Given the description of an element on the screen output the (x, y) to click on. 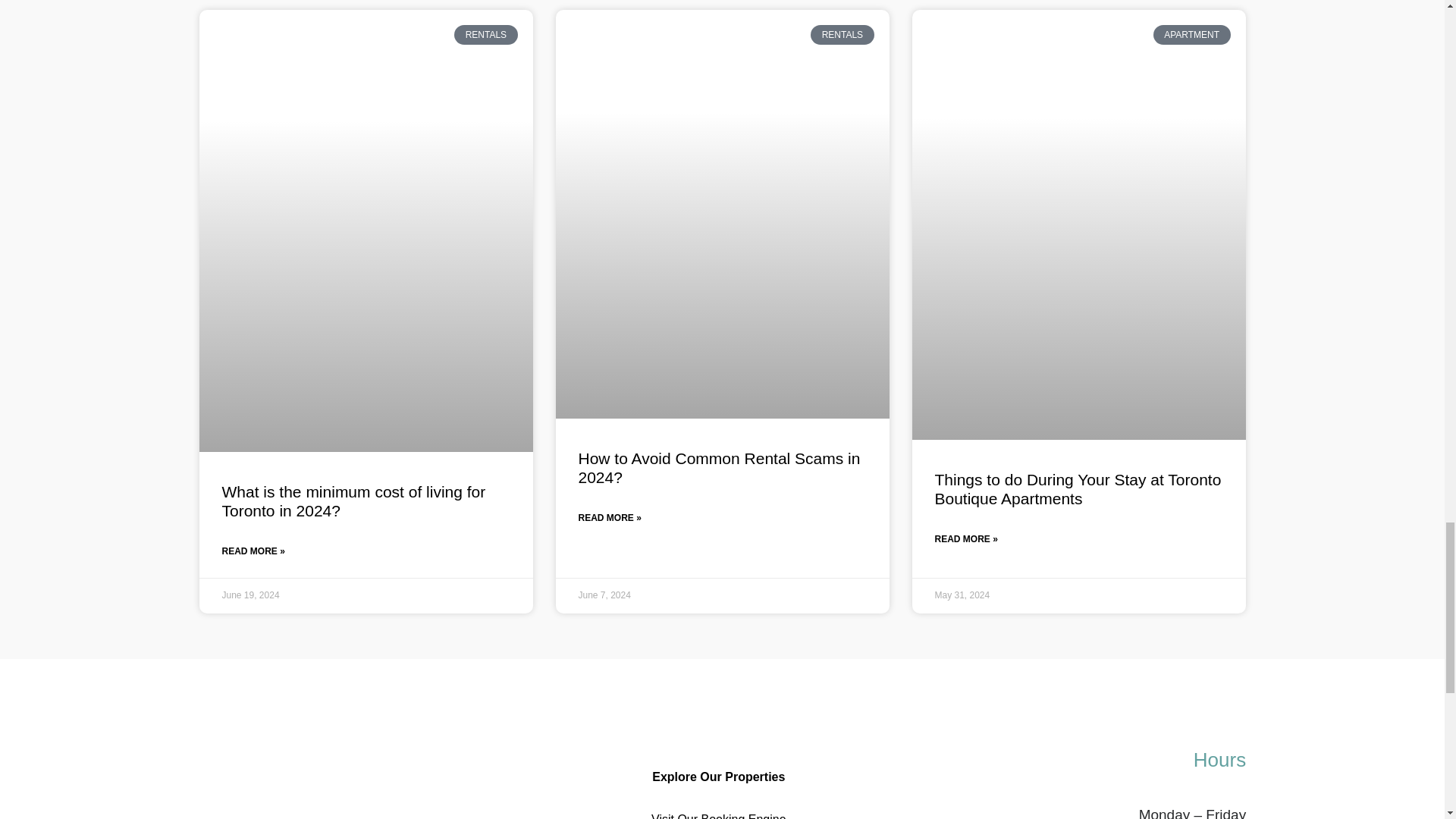
How to Avoid Common Rental Scams in 2024? (719, 467)
What is the minimum cost of living for Toronto in 2024? (352, 501)
Visit Our Booking Engine (718, 813)
Things to do During Your Stay at Toronto Boutique Apartments (1077, 488)
